Given the description of an element on the screen output the (x, y) to click on. 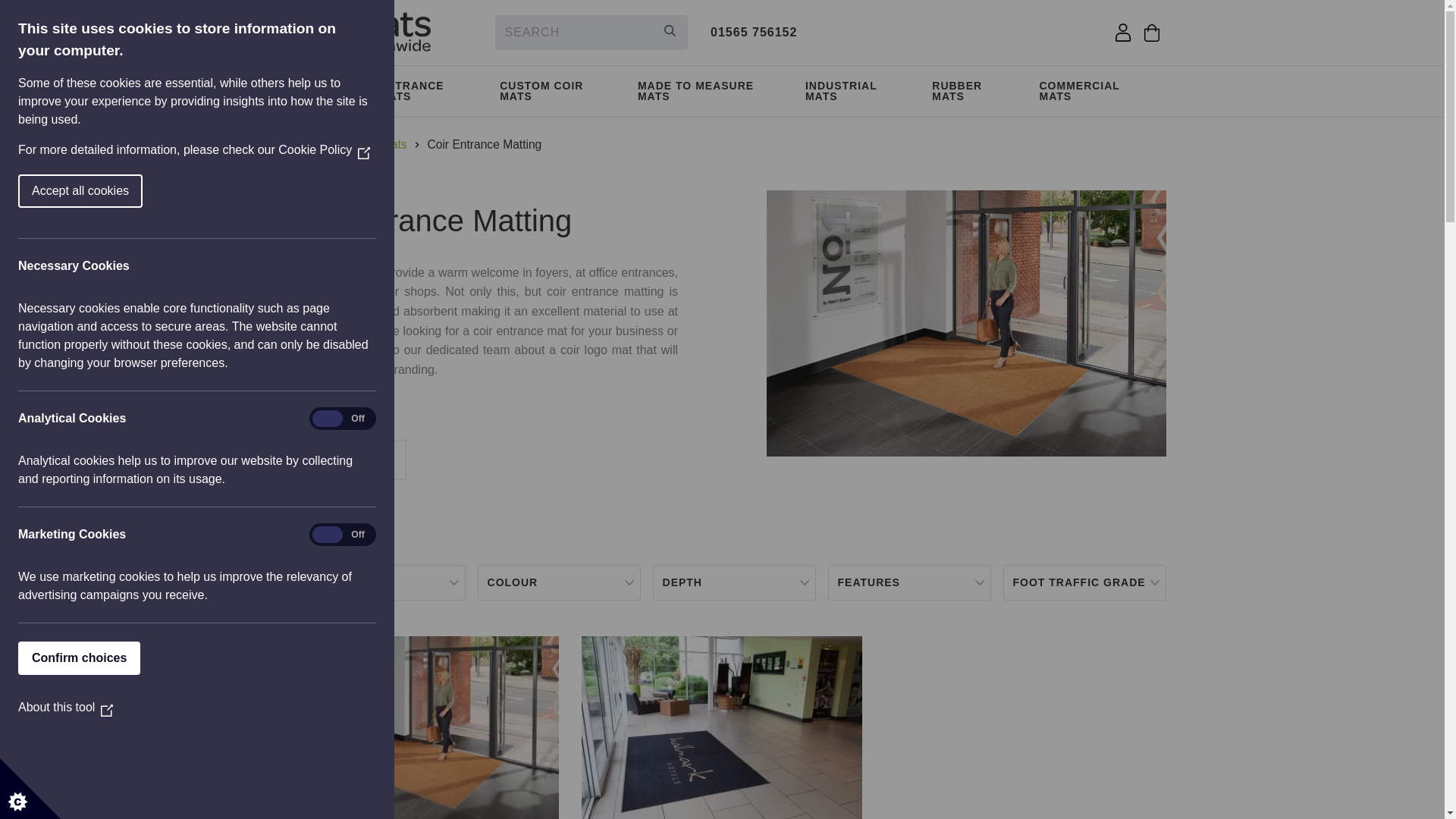
CUSTOM COIR MATS (560, 91)
ENTRANCE MATS (431, 91)
MADE TO MEASURE MATS (713, 91)
LOGO MATS (325, 91)
View your shopping basket (1151, 32)
Customer reviews powered by Trustpilot (934, 35)
01565 756152 (753, 31)
INDUSTRIAL MATS (860, 91)
